Given the description of an element on the screen output the (x, y) to click on. 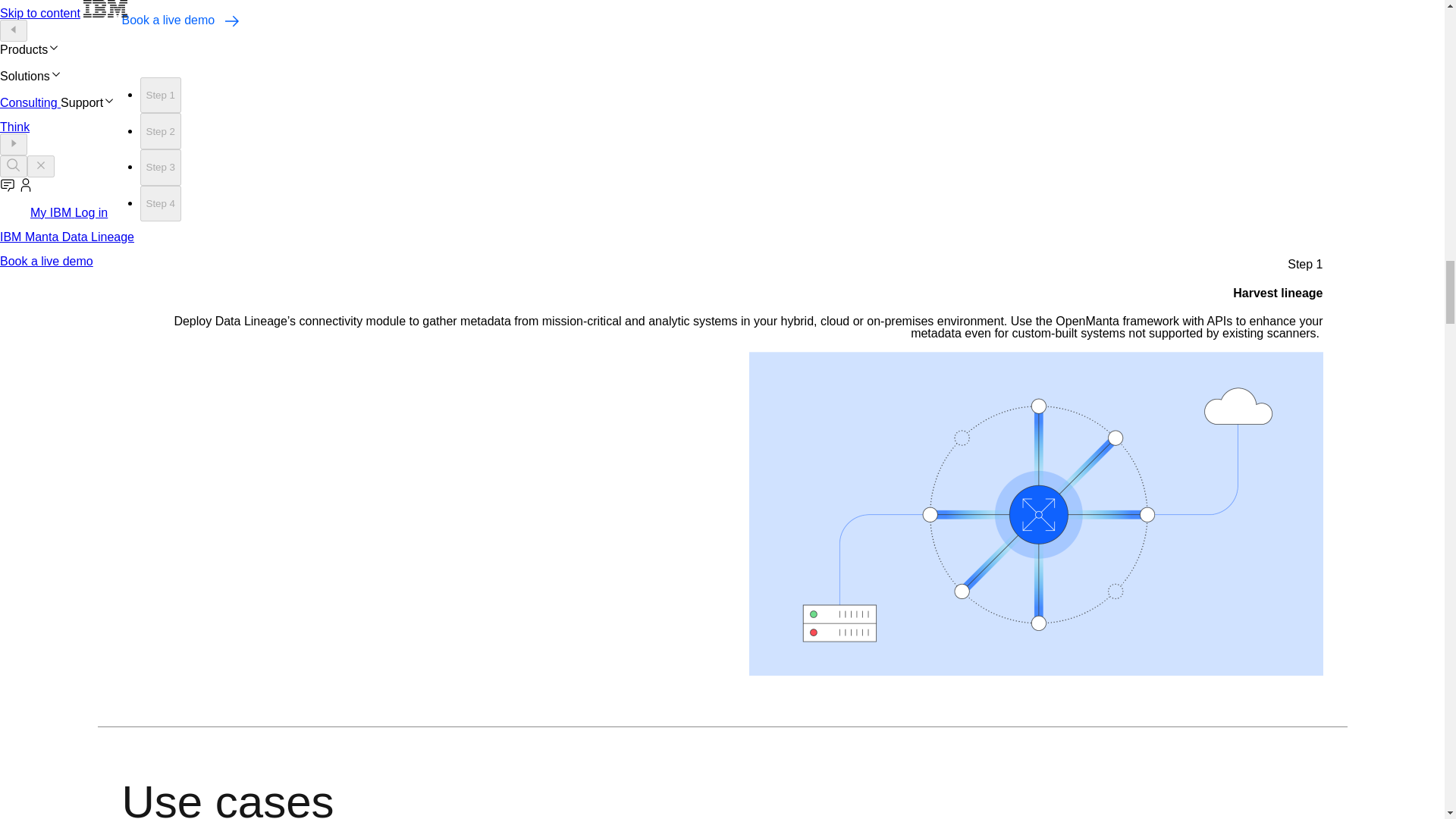
Book a live demo (179, 19)
